Given the description of an element on the screen output the (x, y) to click on. 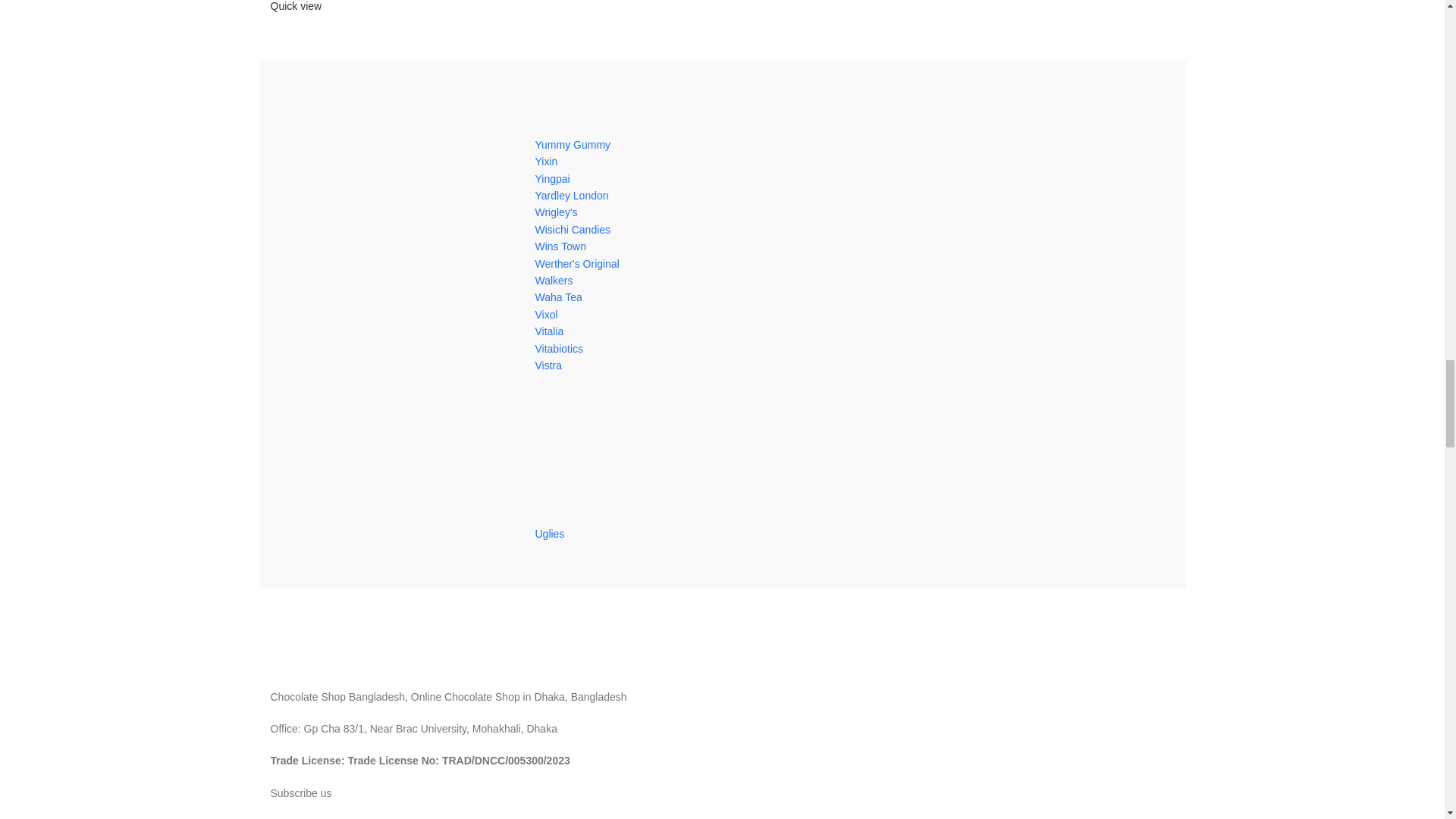
Yardley London (571, 195)
Yummy Gummy (572, 144)
Yixin (545, 161)
Yingpai (551, 178)
Wrigley's (555, 212)
